Given the description of an element on the screen output the (x, y) to click on. 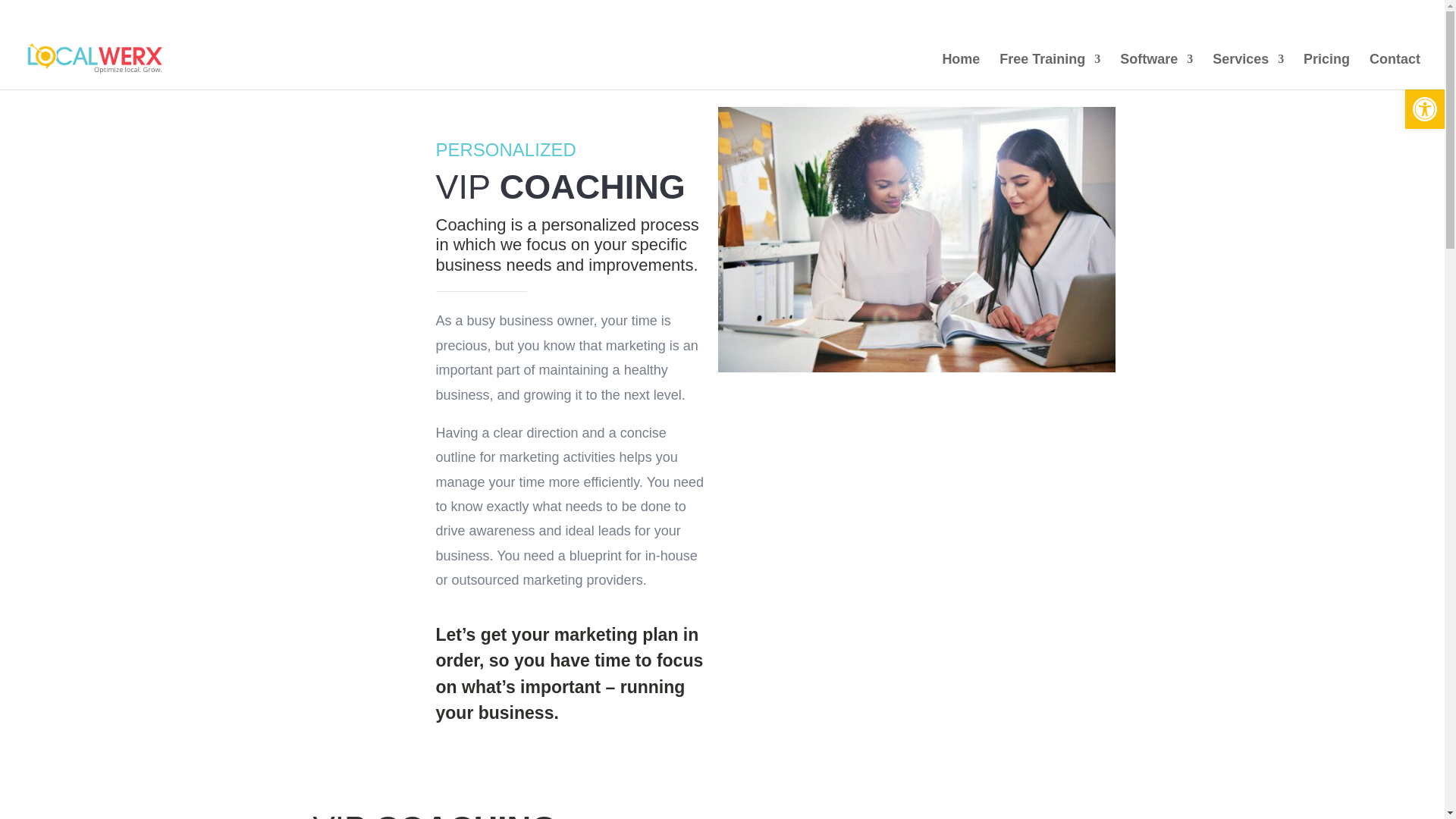
Blog (1282, 15)
Accessibility Tools (1424, 109)
Services (1248, 70)
Free Resources (1206, 15)
Software (1155, 70)
Schedule a Free Consultation (110, 10)
Free Training (1049, 70)
Log In (1325, 15)
Home (960, 70)
